Given the description of an element on the screen output the (x, y) to click on. 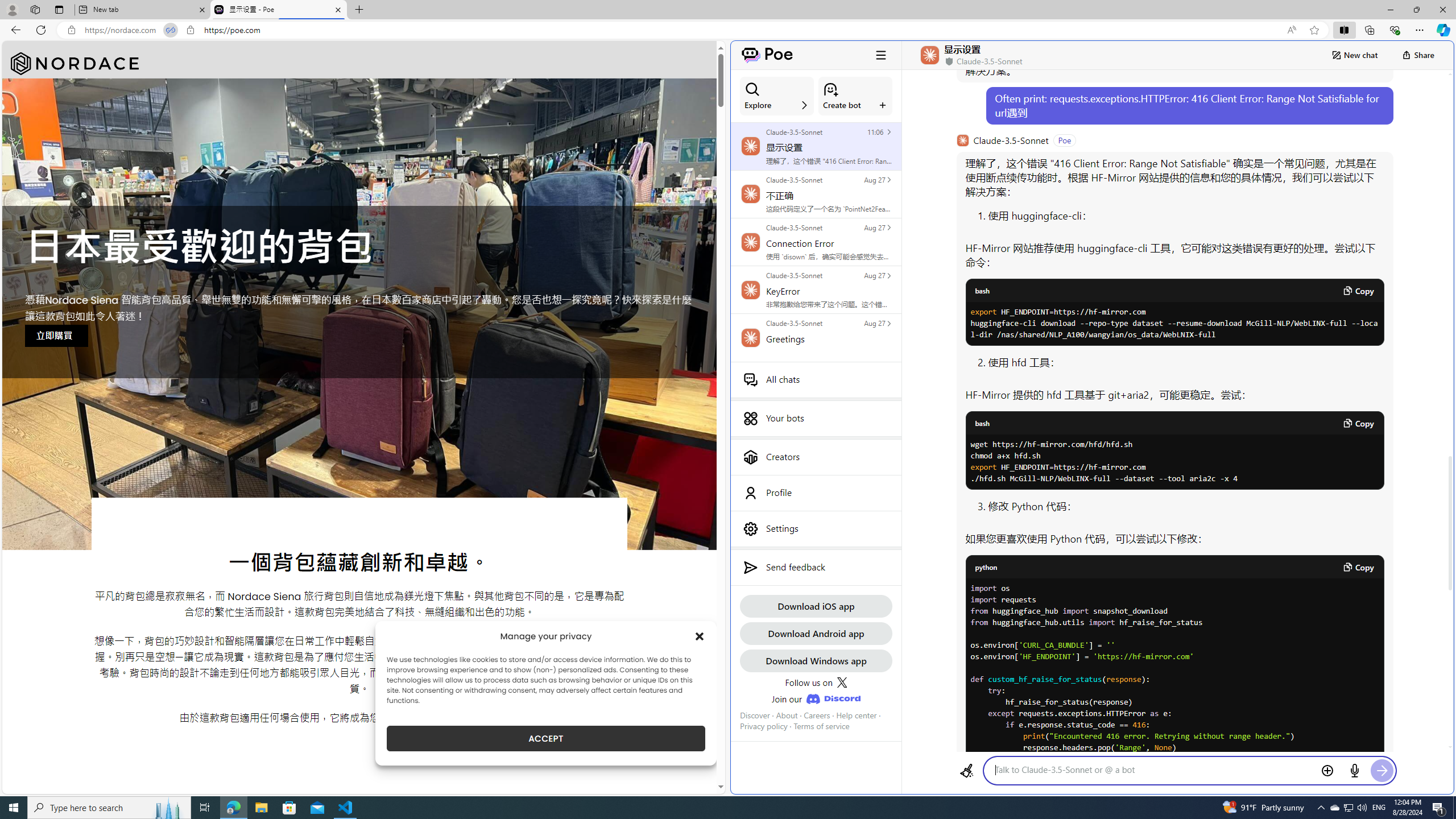
Bot image for Claude-3.5-Sonnet (962, 140)
New chat (1353, 54)
Toggle sidebar collapse (880, 54)
Class: FollowTwitterLink_twitterIconBlack__SS_7V (842, 682)
Download Windows app (815, 660)
Privacy policy (763, 726)
